Given the description of an element on the screen output the (x, y) to click on. 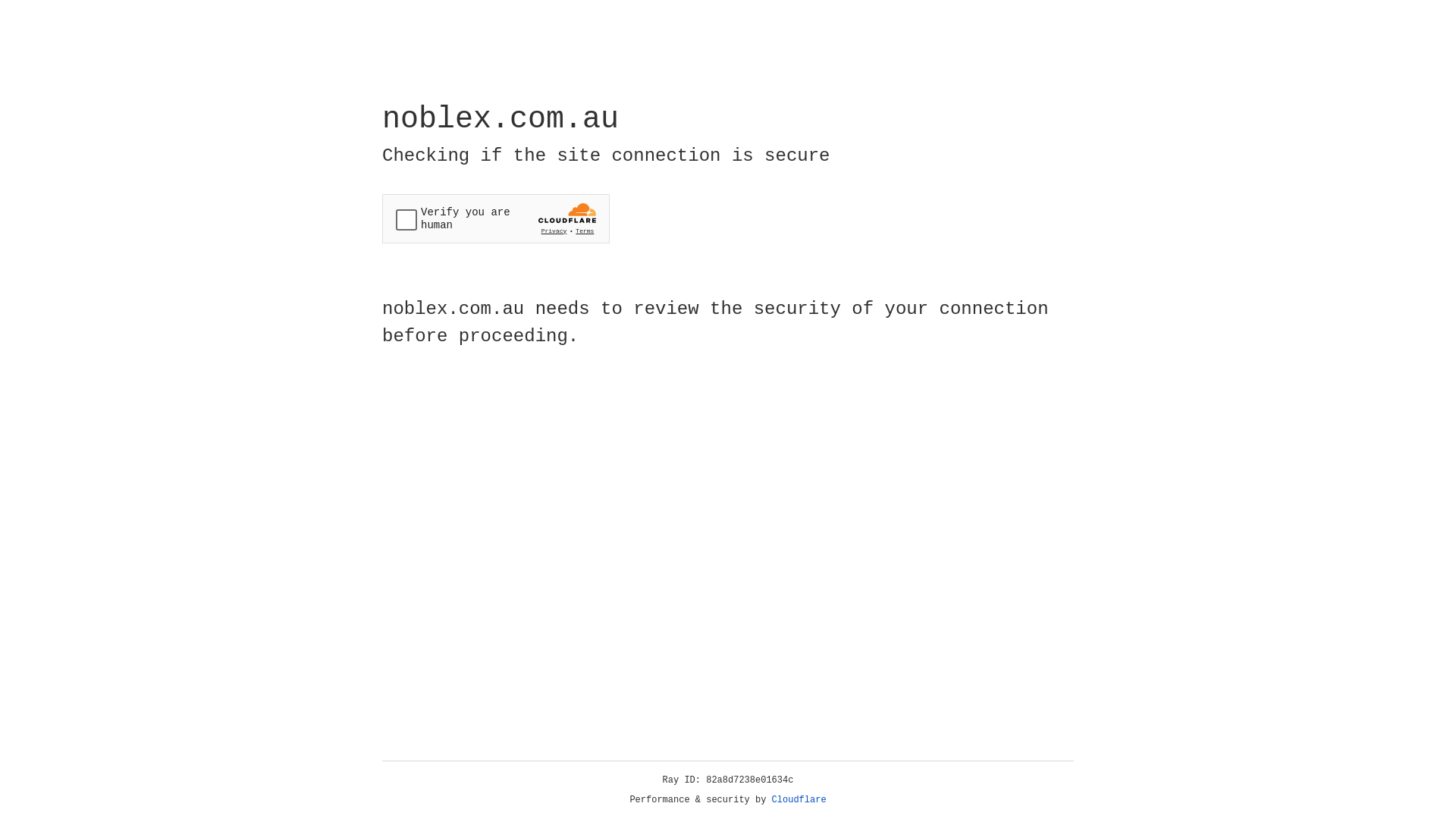
Widget containing a Cloudflare security challenge Element type: hover (495, 218)
Cloudflare Element type: text (798, 799)
